Given the description of an element on the screen output the (x, y) to click on. 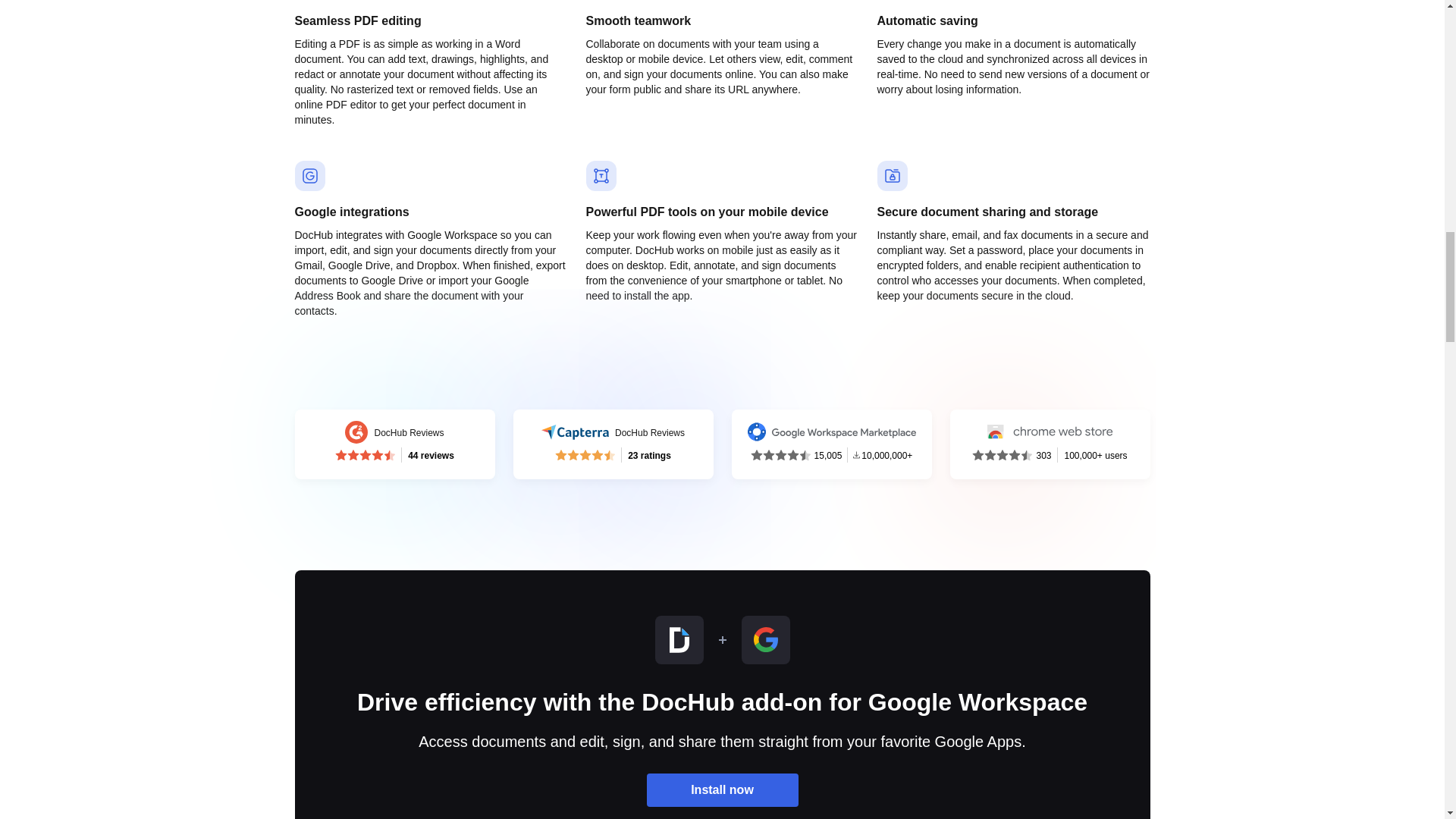
Install now (612, 444)
